Given the description of an element on the screen output the (x, y) to click on. 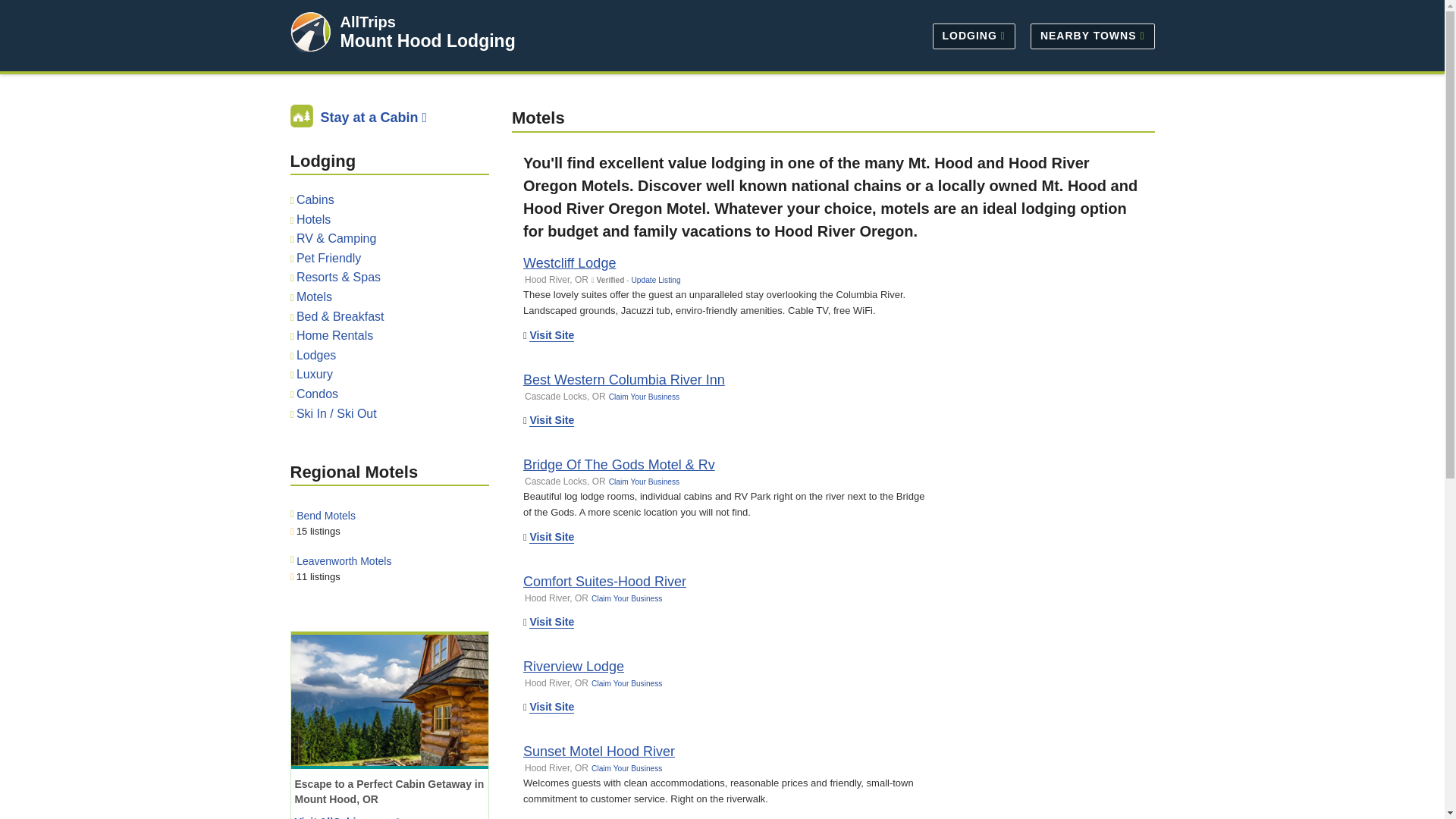
Visit Site (551, 335)
LODGING (973, 35)
Visit Site (551, 420)
Westcliff Lodge (568, 263)
Mount Hood Lodging (427, 40)
Best Western Columbia River Inn (623, 379)
NEARBY TOWNS (1088, 35)
Update Listing (654, 280)
AllTrips (366, 21)
